Given the description of an element on the screen output the (x, y) to click on. 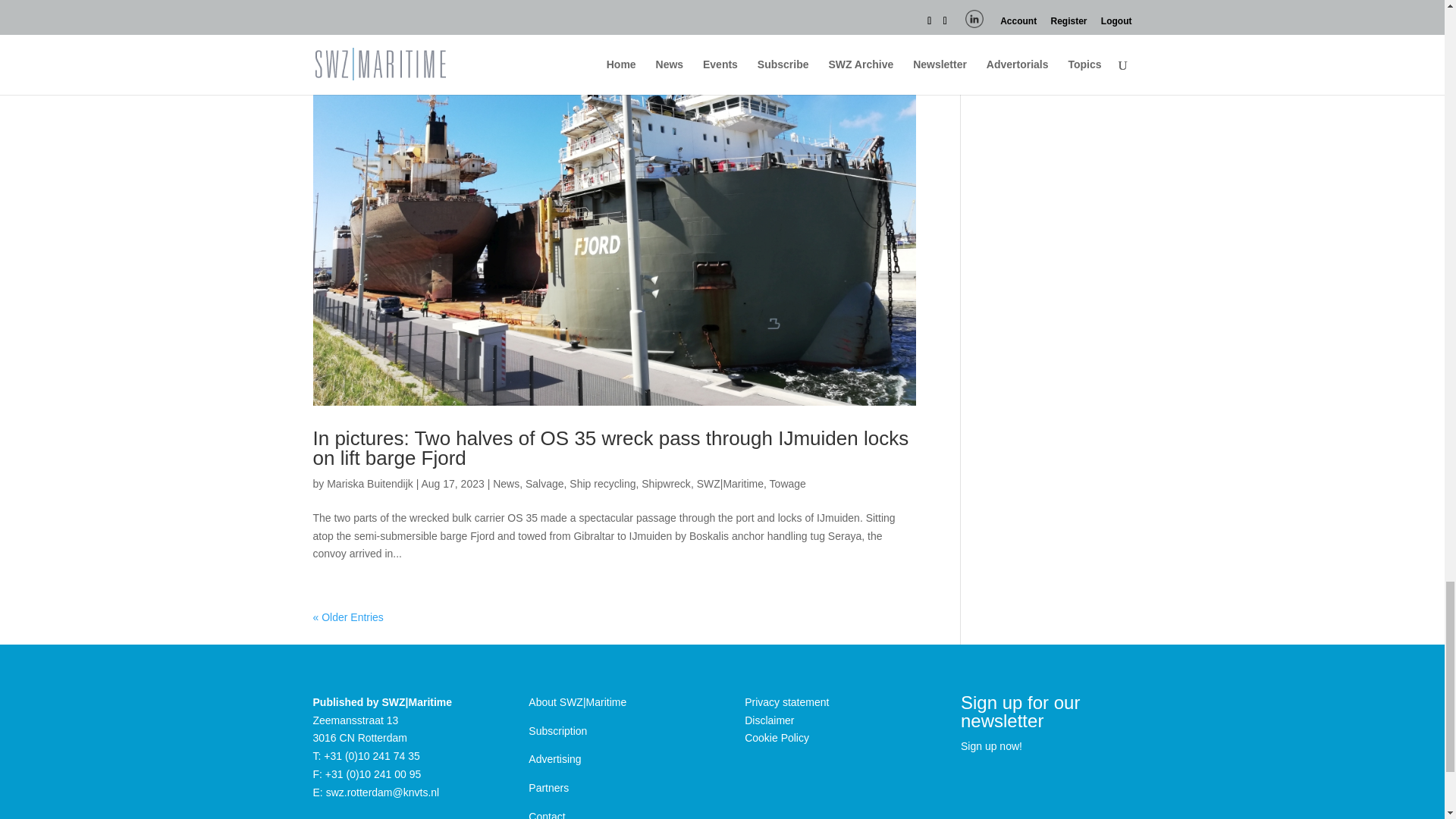
Subscription (557, 730)
Contact (546, 814)
Posts by Mariska Buitendijk (369, 483)
Advertising (554, 758)
Partners (548, 787)
